Given the description of an element on the screen output the (x, y) to click on. 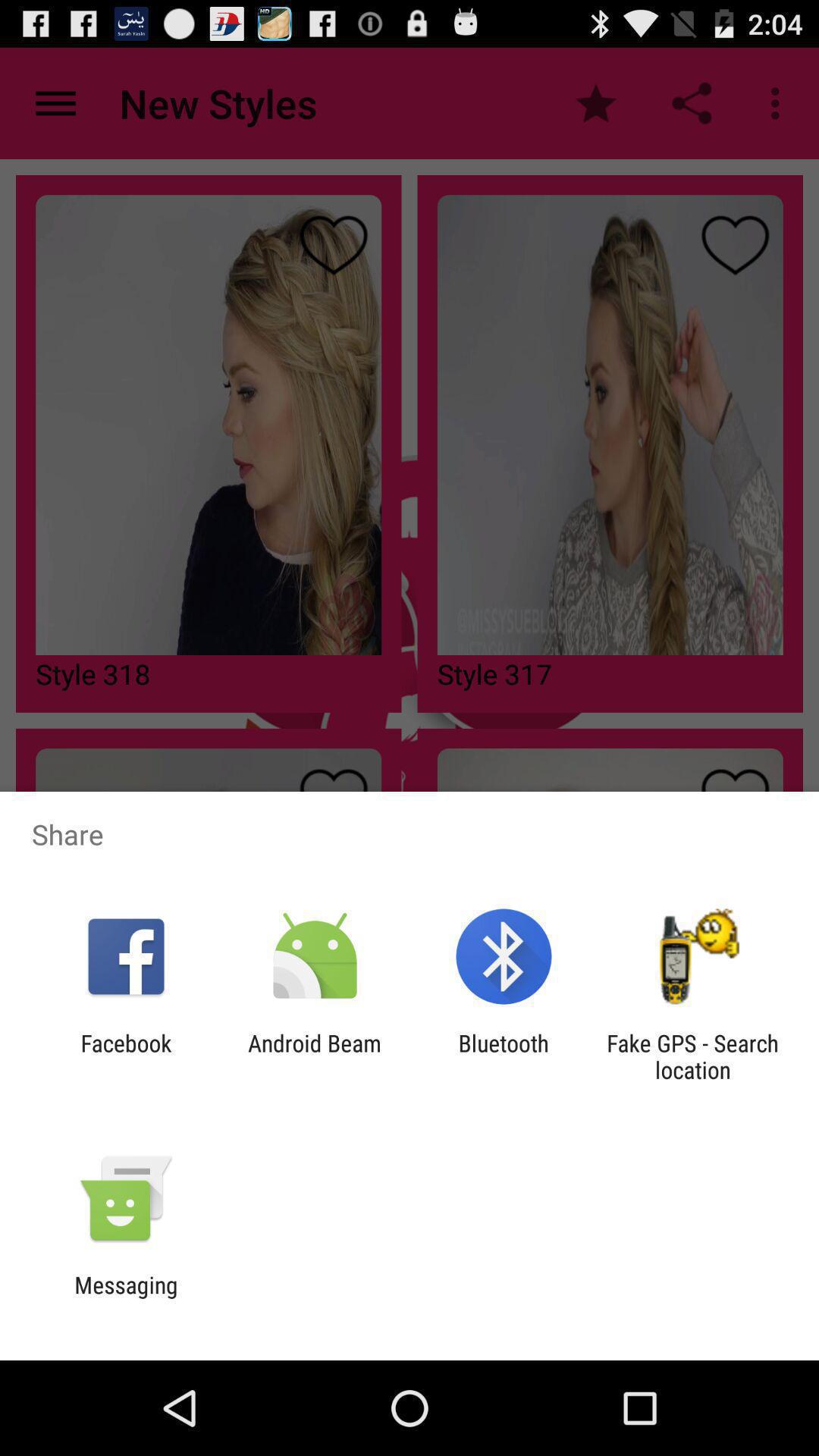
flip to facebook icon (125, 1056)
